Given the description of an element on the screen output the (x, y) to click on. 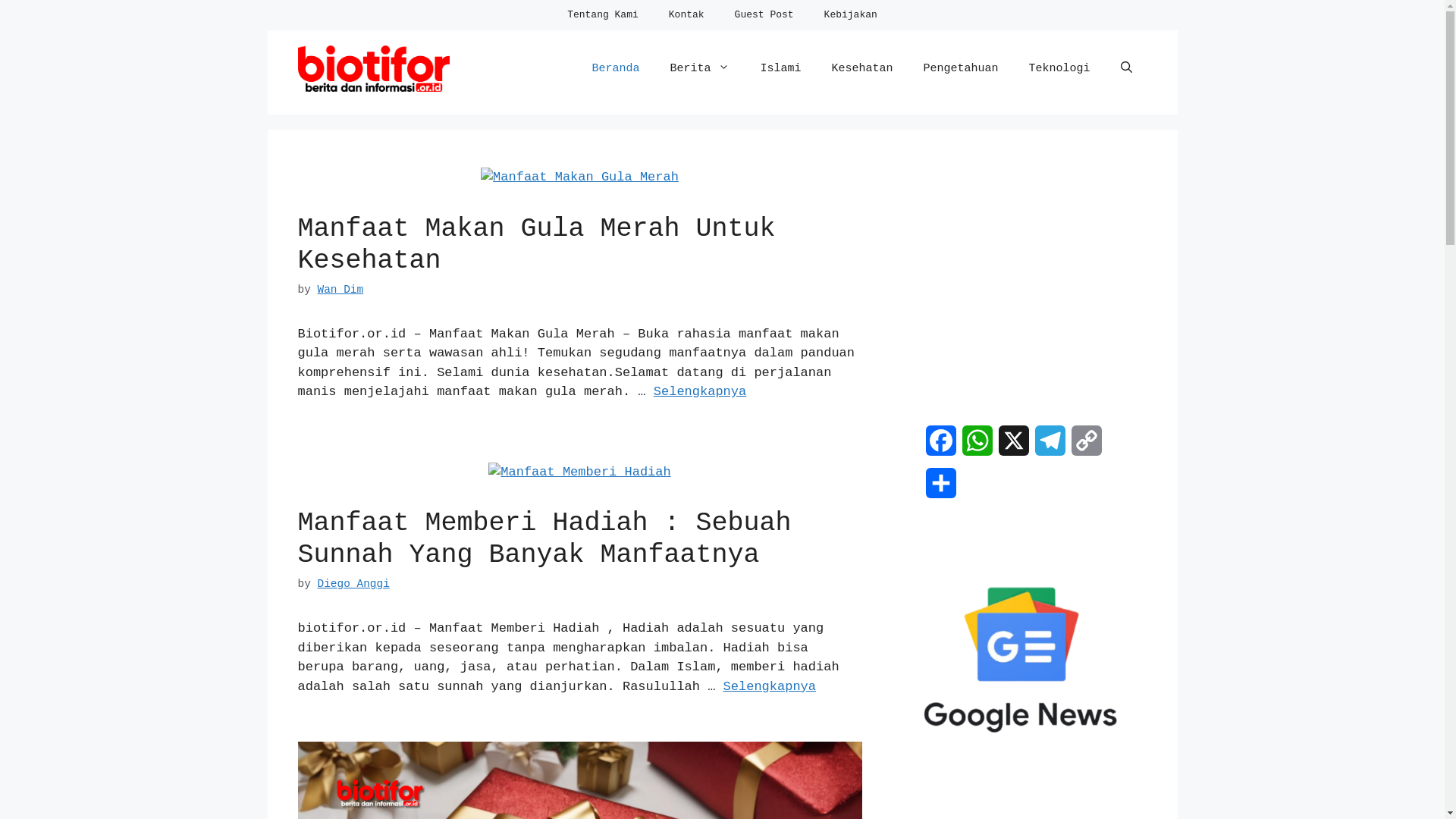
Kesehatan Element type: text (861, 68)
WhatsApp Element type: text (976, 446)
Manfaat Makan Gula Merah Untuk Kesehatan Element type: text (536, 244)
Beranda Element type: text (615, 68)
Wan Dim Element type: text (339, 289)
X Element type: text (1012, 446)
Share Element type: text (940, 488)
Tentang Kami Element type: text (602, 15)
Facebook Element type: text (940, 446)
Advertisement Element type: hover (1106, 281)
Copy Link Element type: text (1085, 446)
Selengkapnya Element type: text (769, 686)
Kontak Element type: text (686, 15)
Islami Element type: text (779, 68)
Guest Post Element type: text (764, 15)
Pengetahuan Element type: text (960, 68)
Kebijakan Element type: text (850, 15)
Teknologi Element type: text (1058, 68)
Berita Element type: text (699, 68)
Telegram Element type: text (1049, 446)
Selengkapnya Element type: text (699, 391)
Diego Anggi Element type: text (352, 583)
